Given the description of an element on the screen output the (x, y) to click on. 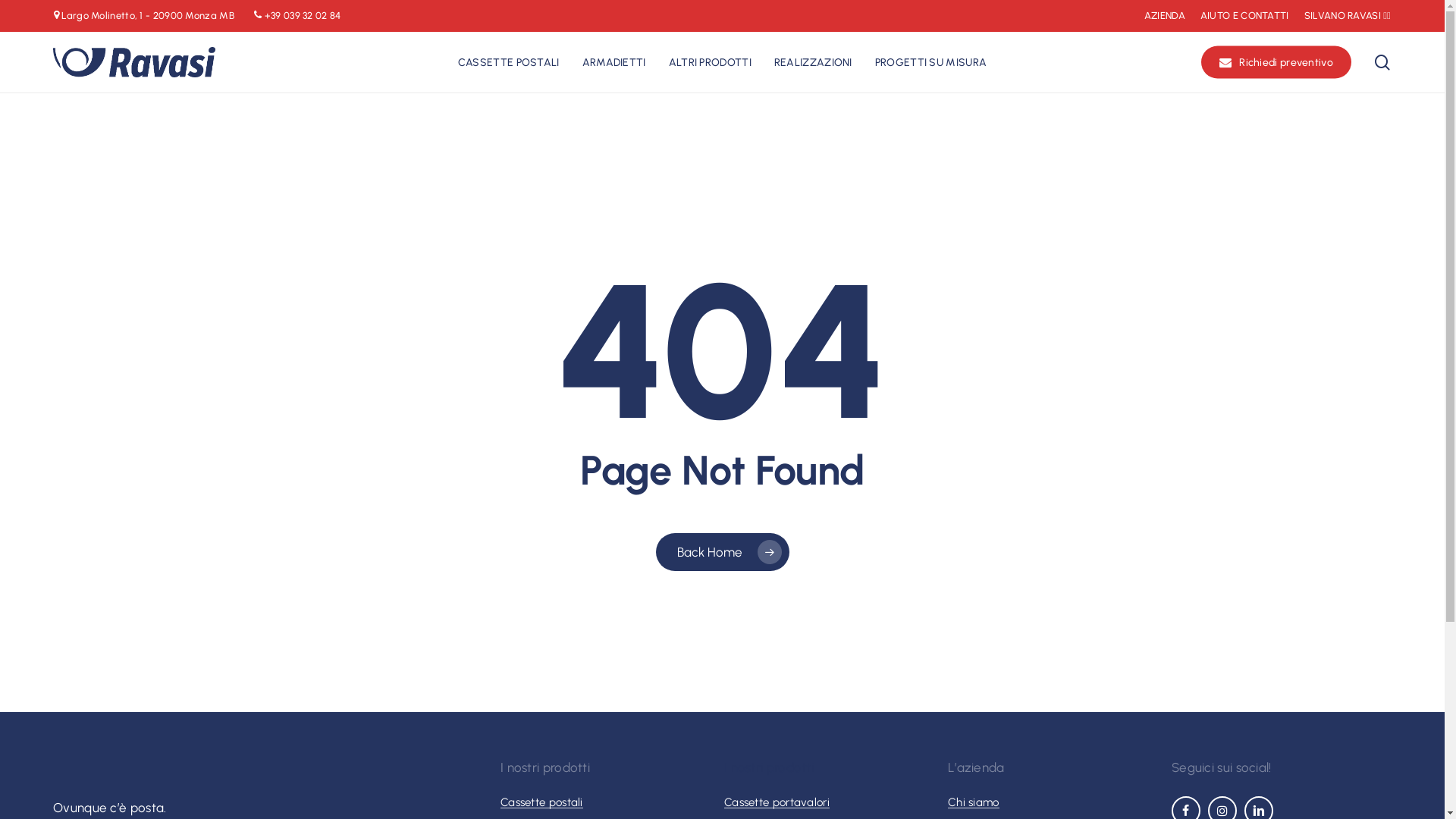
Largo Molinetto, 1 - 20900 Monza MB Element type: text (146, 15)
ARMADIETTI Element type: text (614, 61)
+39 039 32 02 84 Element type: text (302, 15)
AZIENDA Element type: text (1164, 15)
Cassette portavalori Element type: text (776, 802)
Chi siamo Element type: text (973, 802)
search Element type: text (1382, 62)
CASSETTE POSTALI Element type: text (508, 61)
ALTRI PRODOTTI Element type: text (709, 61)
Back Home Element type: text (721, 551)
AIUTO E CONTATTI Element type: text (1244, 15)
Cassette postali Element type: text (541, 802)
REALIZZAZIONI Element type: text (813, 61)
PROGETTI SU MISURA Element type: text (930, 61)
Richiedi preventivo Element type: text (1276, 61)
